Given the description of an element on the screen output the (x, y) to click on. 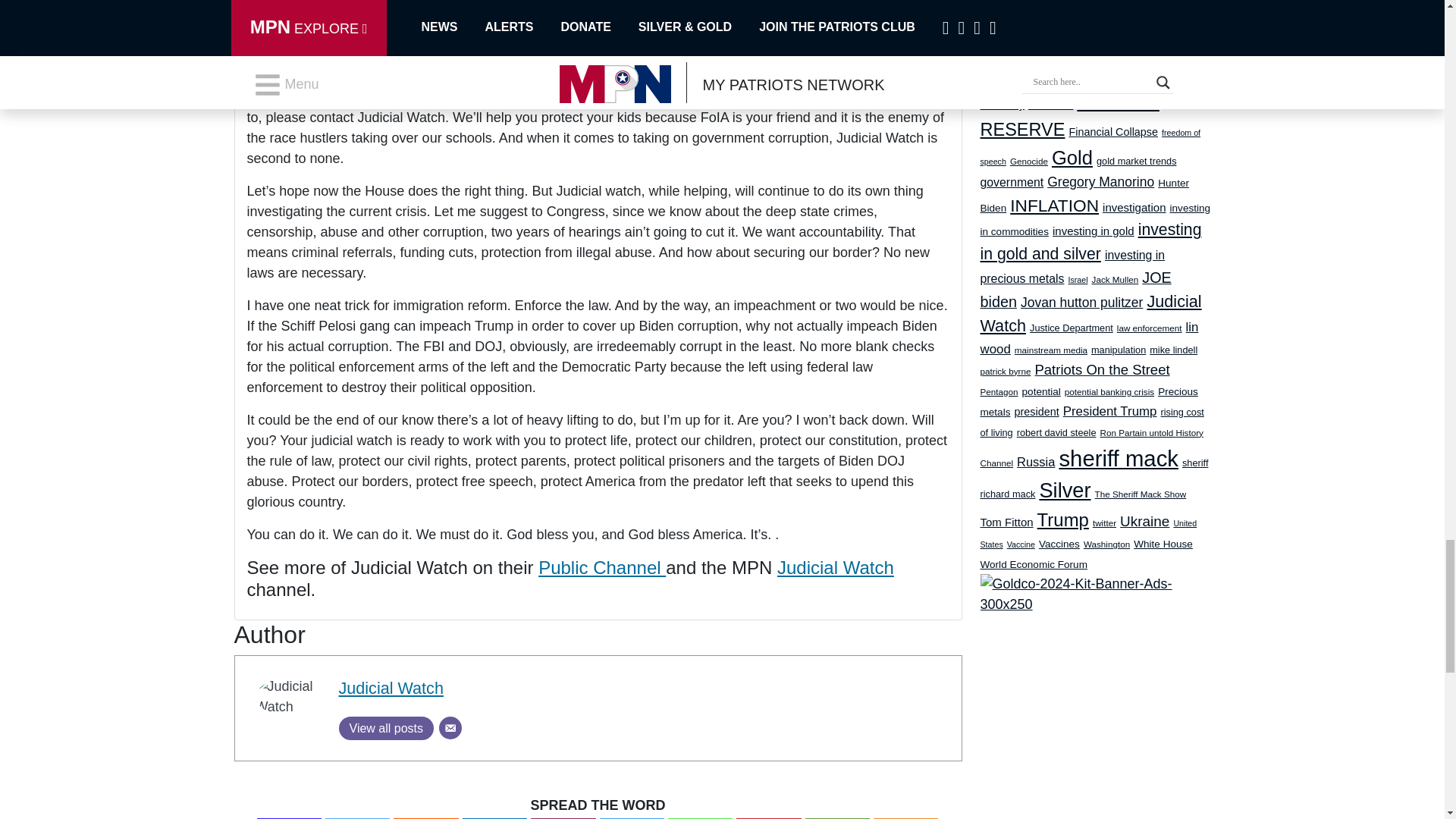
Judicial Watch (389, 687)
Facebook (289, 818)
Twitter (357, 818)
View all posts (385, 728)
